Given the description of an element on the screen output the (x, y) to click on. 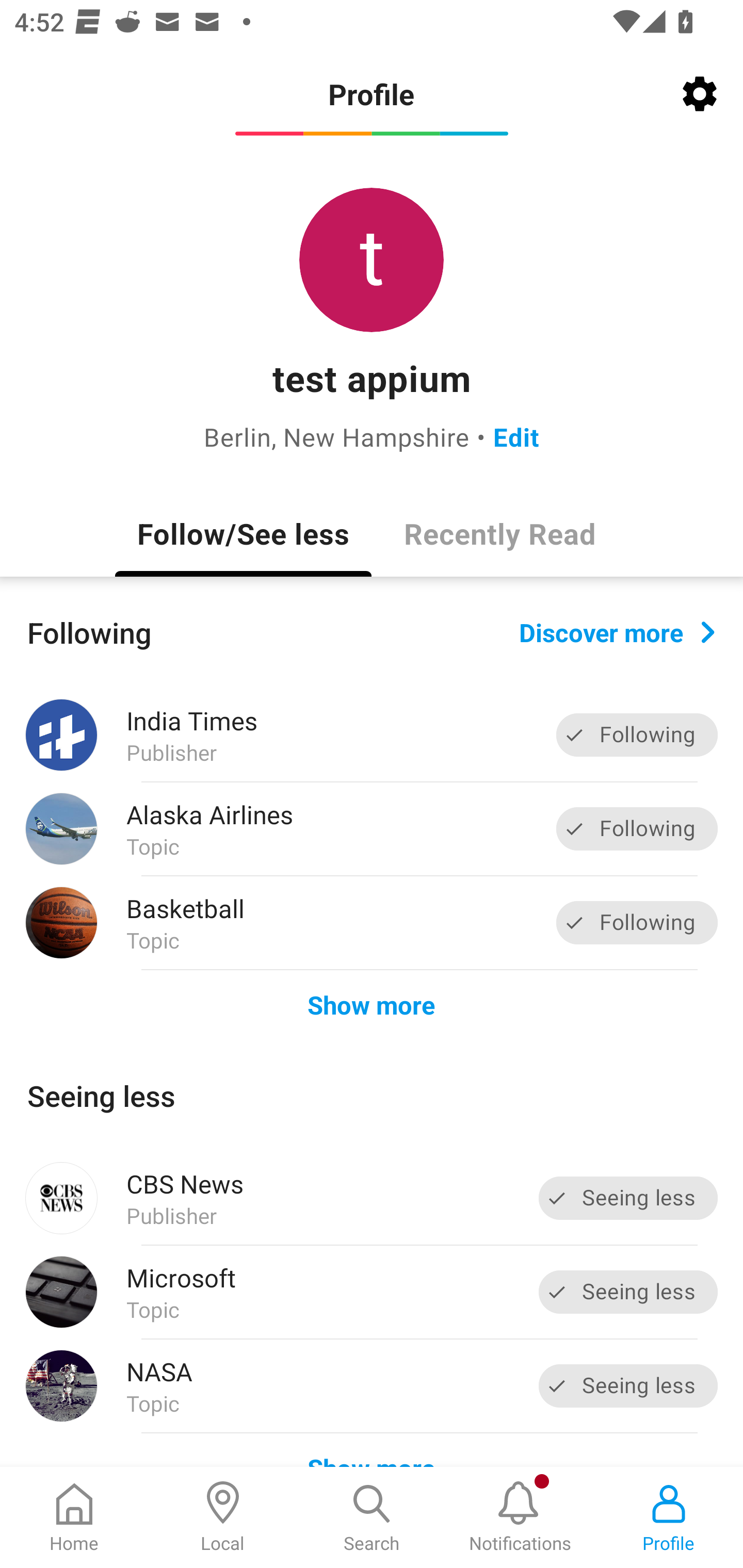
Settings (699, 93)
Edit (516, 436)
Recently Read (499, 533)
Discover more (617, 631)
India Times Publisher Following (371, 735)
Following (636, 735)
Alaska Airlines Topic Following (371, 829)
Following (636, 828)
Basketball Topic Following (371, 922)
Following (636, 922)
Show more (371, 1004)
CBS News Publisher Seeing less (371, 1197)
Seeing less (627, 1197)
Microsoft Topic Seeing less (371, 1291)
Seeing less (627, 1291)
NASA Topic Seeing less (371, 1386)
Seeing less (627, 1386)
Home (74, 1517)
Local (222, 1517)
Search (371, 1517)
Notifications, New notification Notifications (519, 1517)
